Given the description of an element on the screen output the (x, y) to click on. 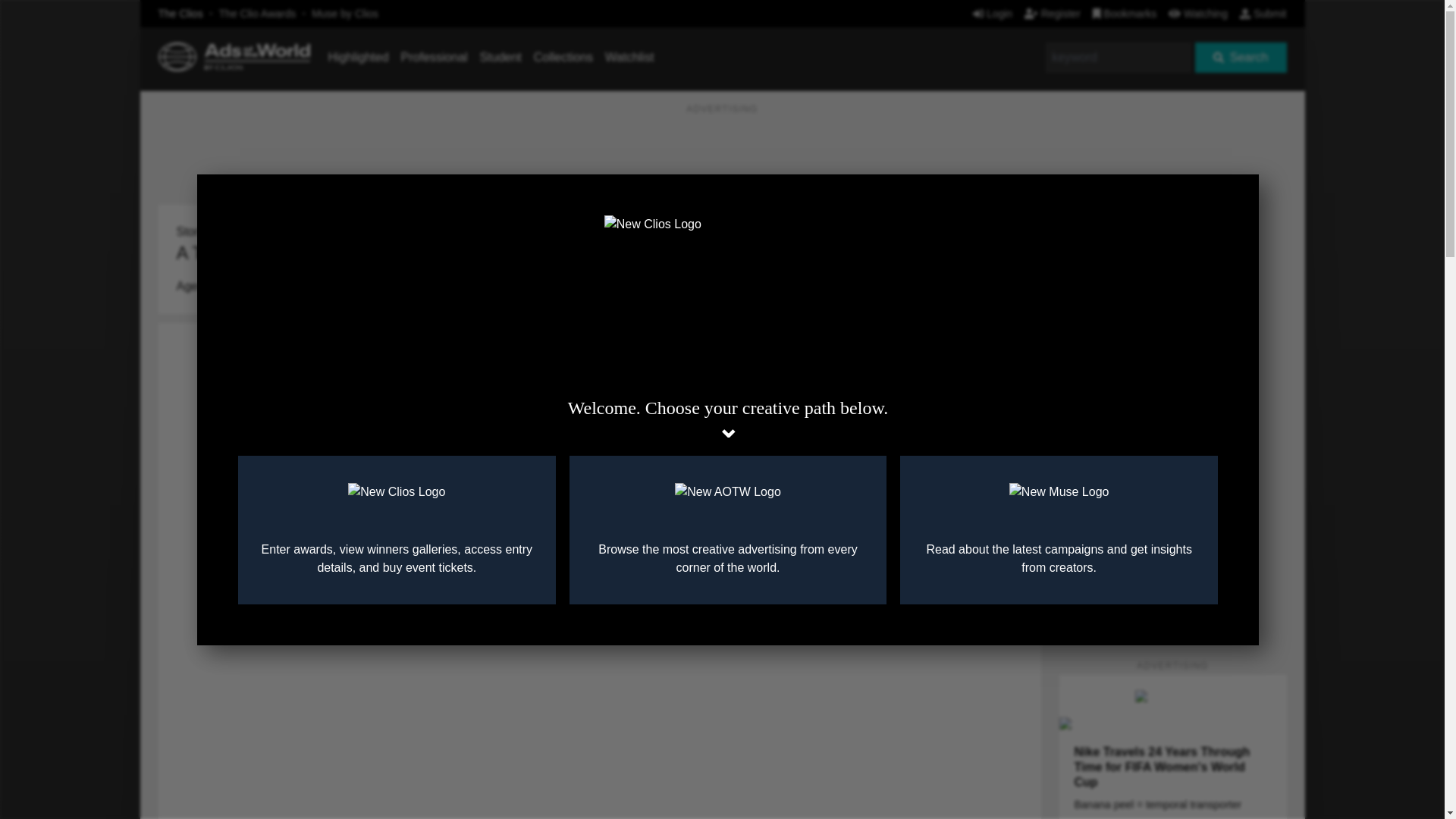
Login (991, 13)
Watching (1198, 13)
The Clio Awards (258, 13)
Search (1241, 57)
Muse by Clios (344, 13)
Professional (434, 56)
Highlighted (357, 56)
Watchlist (629, 56)
Register (1052, 13)
Login to Bookmark (1018, 209)
